Given the description of an element on the screen output the (x, y) to click on. 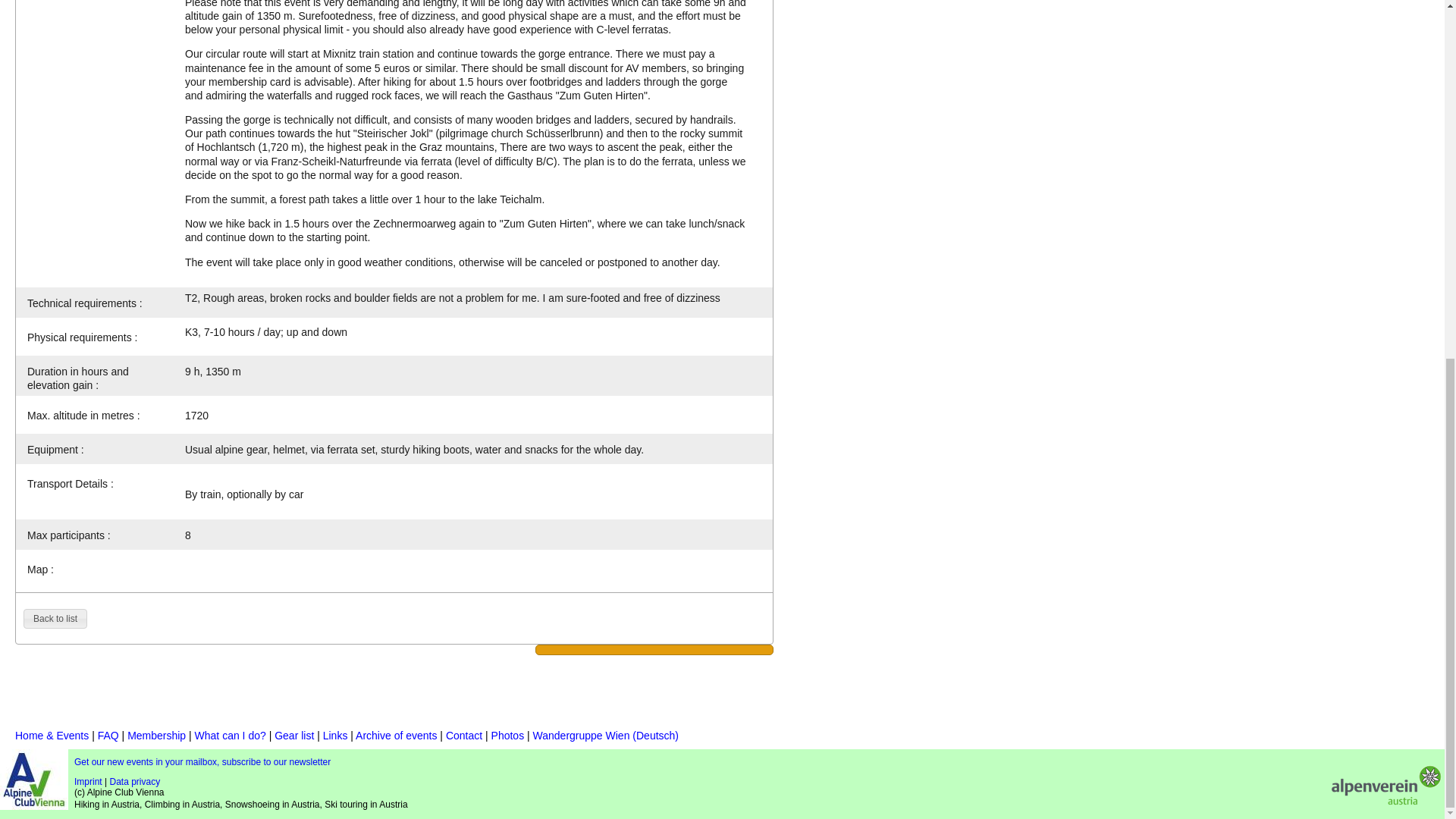
Membership (157, 735)
What can I do? (230, 735)
Back to list (55, 618)
Contact (463, 735)
Gear list (294, 735)
Imprint (87, 781)
FAQ (108, 735)
Links (335, 735)
Photos (508, 735)
